Given the description of an element on the screen output the (x, y) to click on. 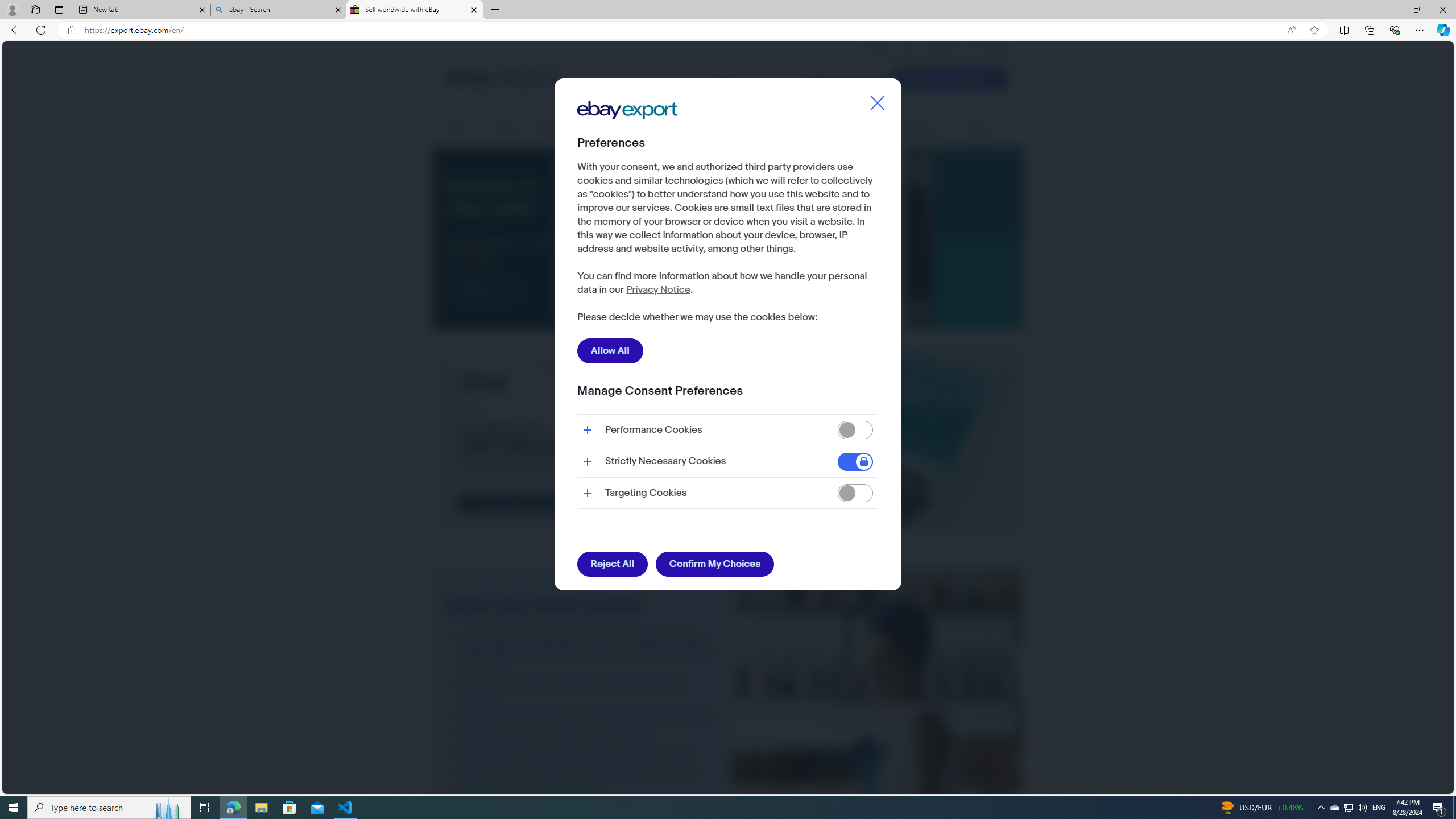
Say hello to the new desktop messaging experience (582, 751)
Empower your advertising with more metrics and control (582, 715)
Strictly Necessary Cookies Always Active (726, 461)
Class: btn__arrow (505, 288)
Fees, taxes & payments (718, 128)
Create Your Listing (949, 78)
IN (972, 53)
Privacy Notice (658, 290)
More marketing capabilities, right from your Active Listings (582, 690)
